Given the description of an element on the screen output the (x, y) to click on. 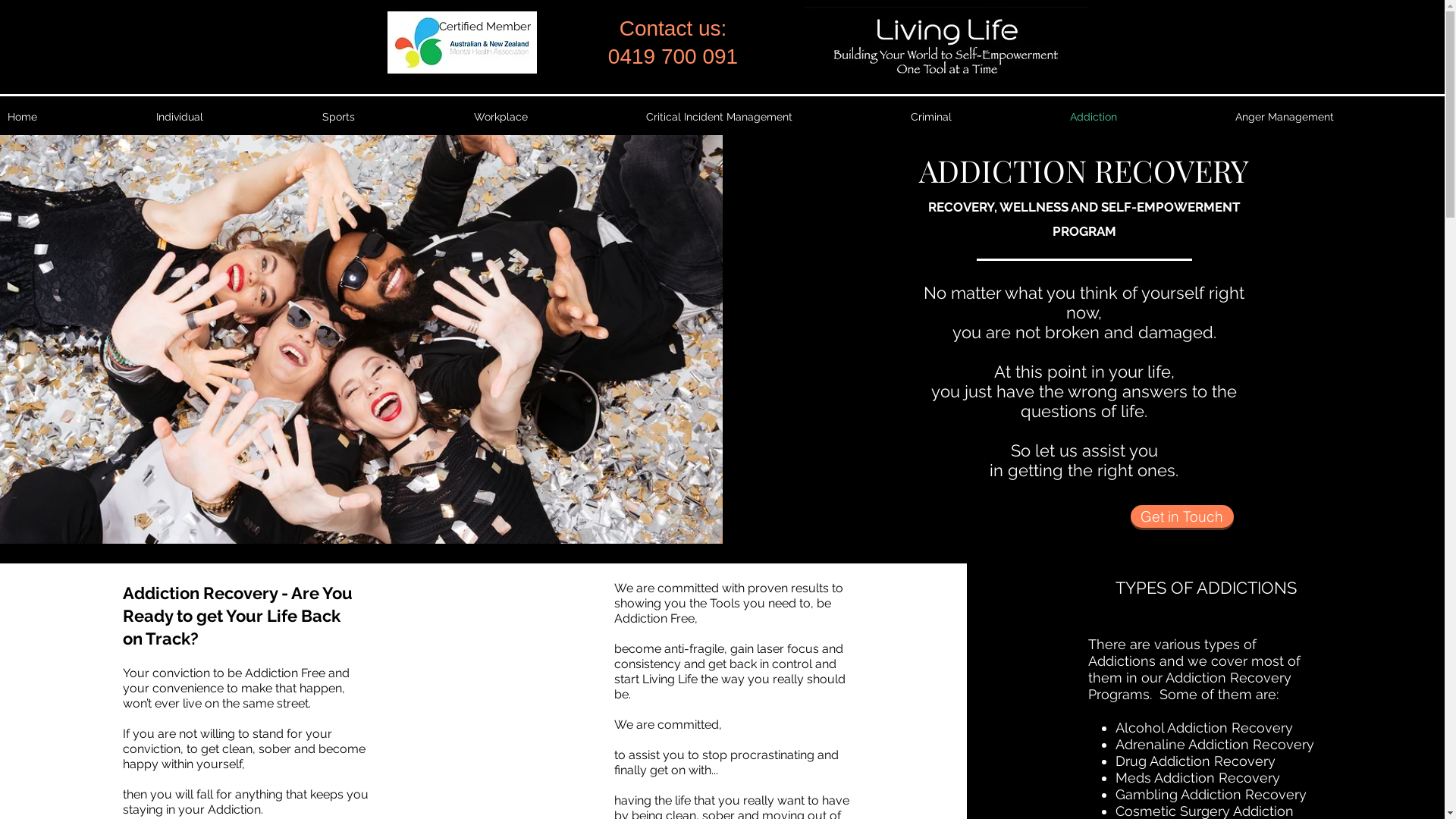
Anger Management Element type: text (1335, 116)
Addiction Element type: text (1144, 116)
Sports Element type: text (390, 116)
Individual Element type: text (231, 116)
Get in Touch Element type: text (1181, 516)
Critical Incident Management Element type: text (770, 116)
Workplace Element type: text (552, 116)
Home Element type: text (74, 116)
Criminal Element type: text (982, 116)
